Given the description of an element on the screen output the (x, y) to click on. 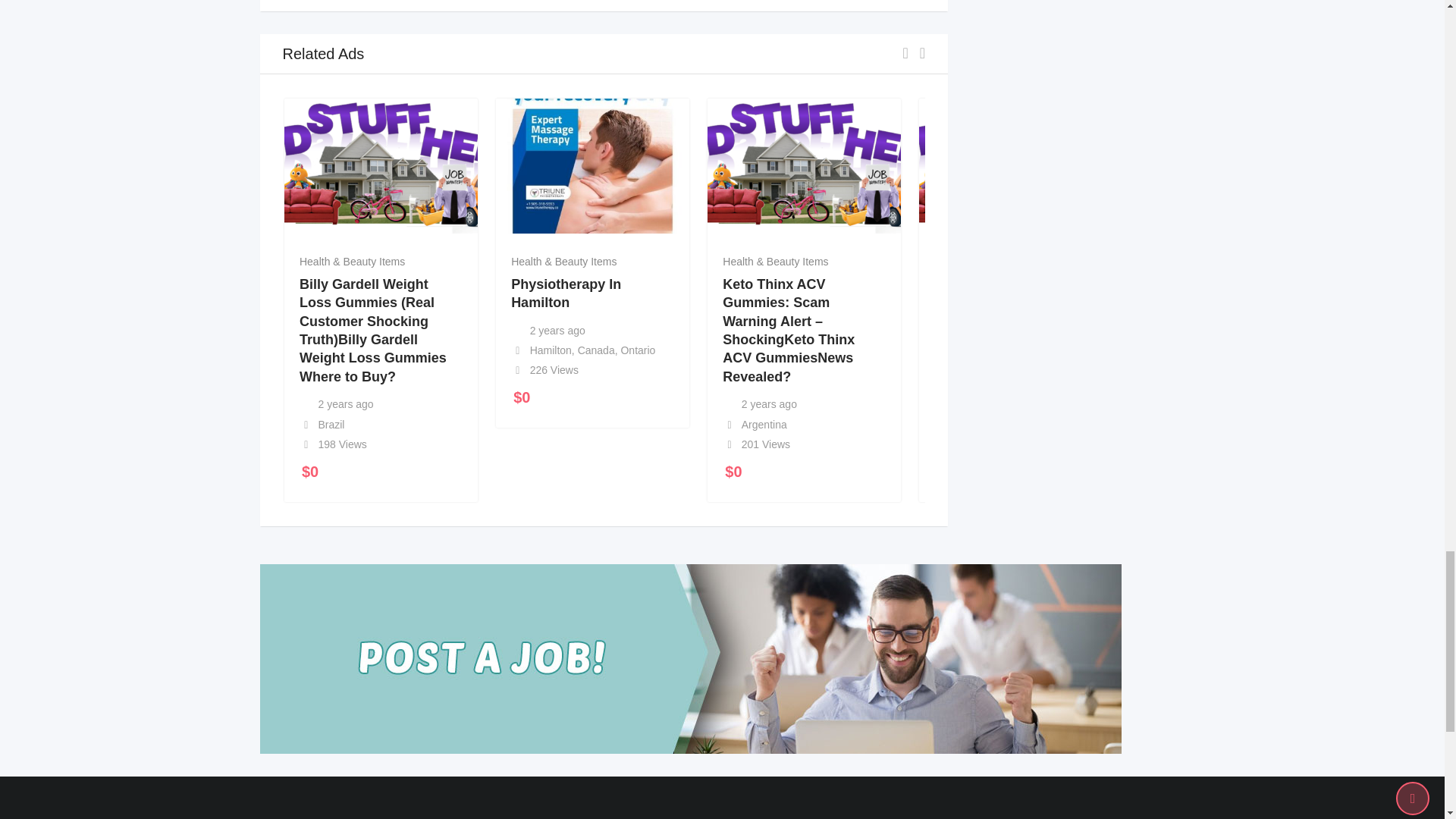
Physiotherapy In Hamilton (566, 293)
